Given the description of an element on the screen output the (x, y) to click on. 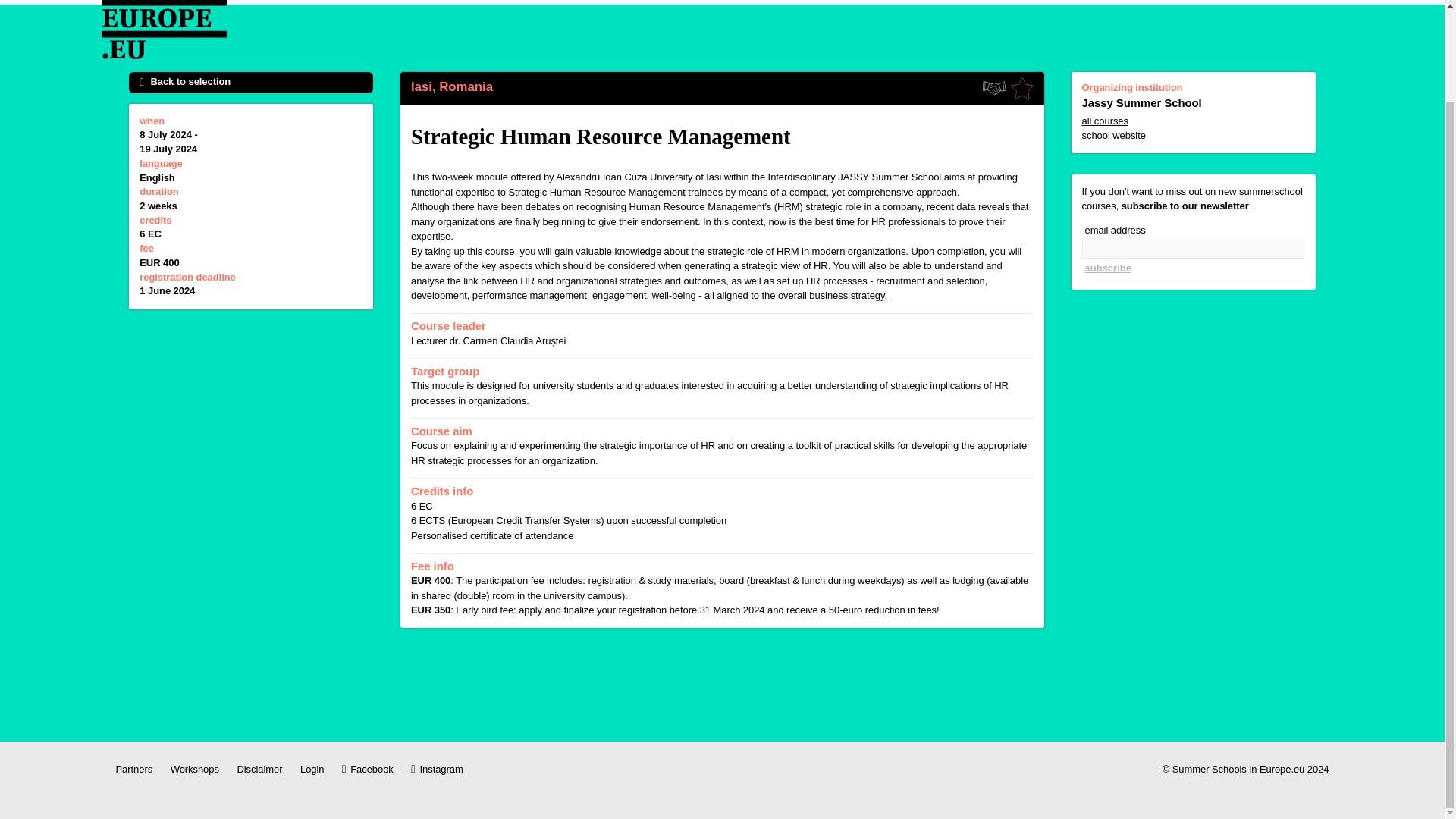
all courses (1192, 121)
school website (1192, 135)
subscribe (1107, 268)
Disclaimer (258, 768)
Partners (133, 768)
subscribe (1107, 268)
Facebook (367, 768)
Add as favourite (1021, 87)
Workshops (194, 768)
Login (311, 768)
